Given the description of an element on the screen output the (x, y) to click on. 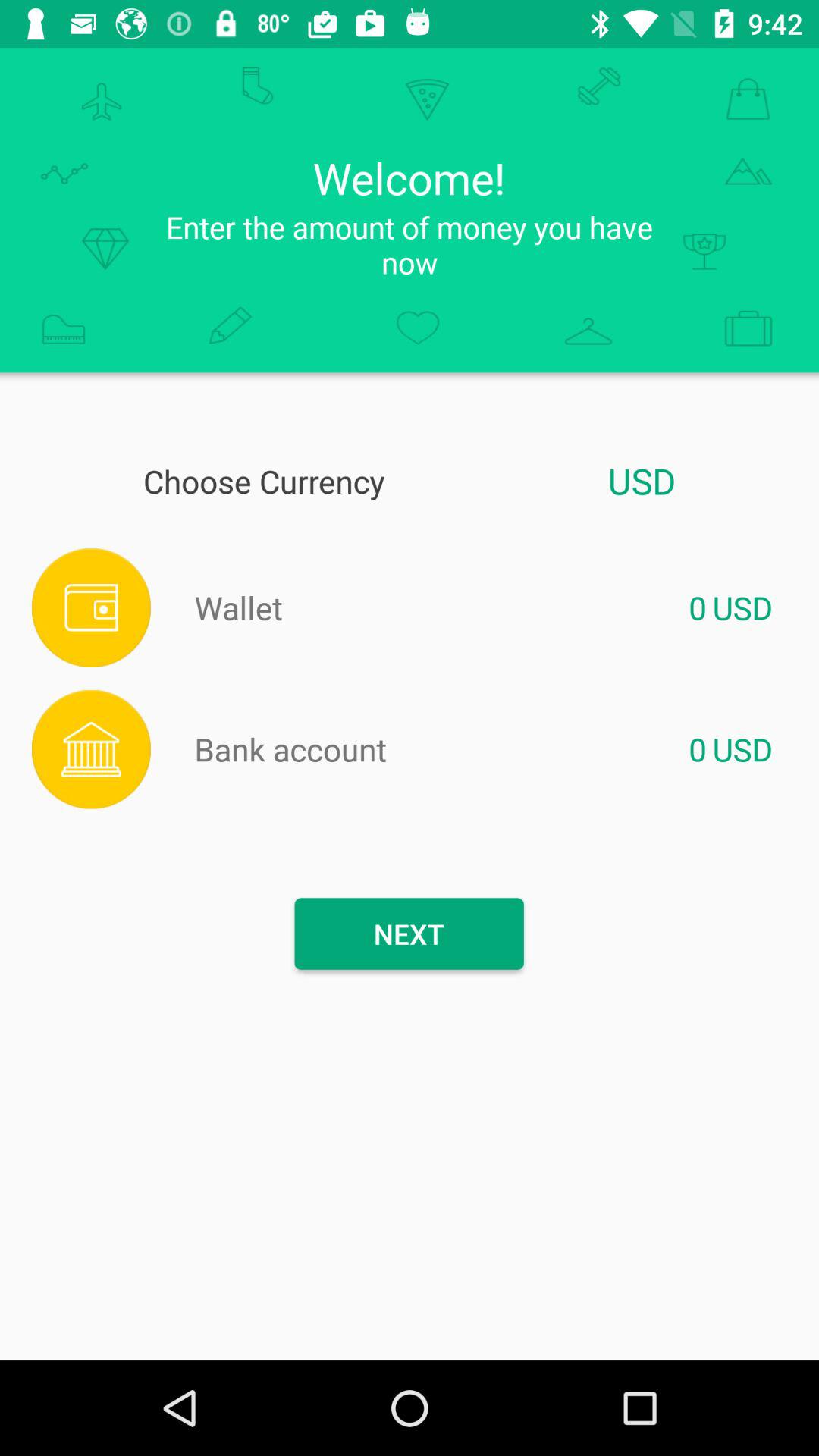
set cursor in box (494, 607)
